Given the description of an element on the screen output the (x, y) to click on. 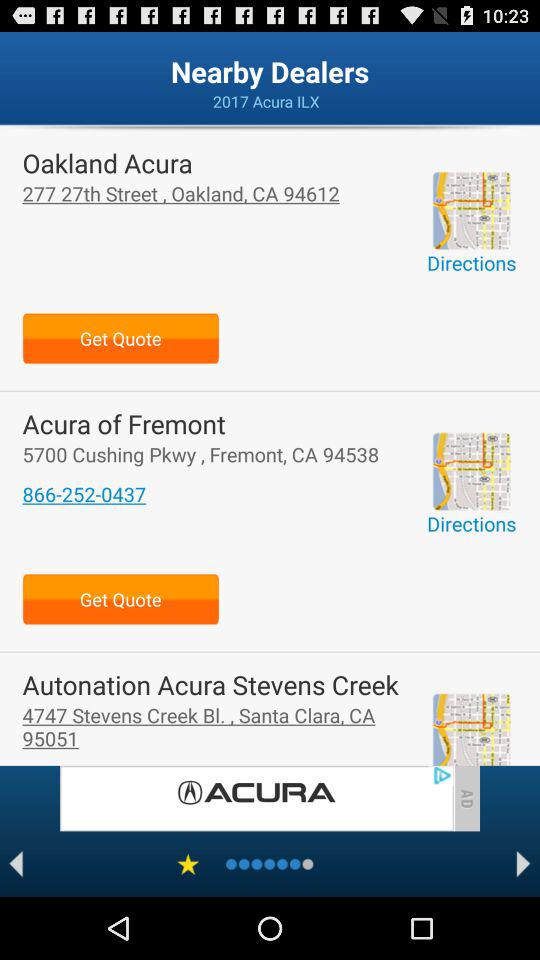
button to put on favorite (188, 864)
